Given the description of an element on the screen output the (x, y) to click on. 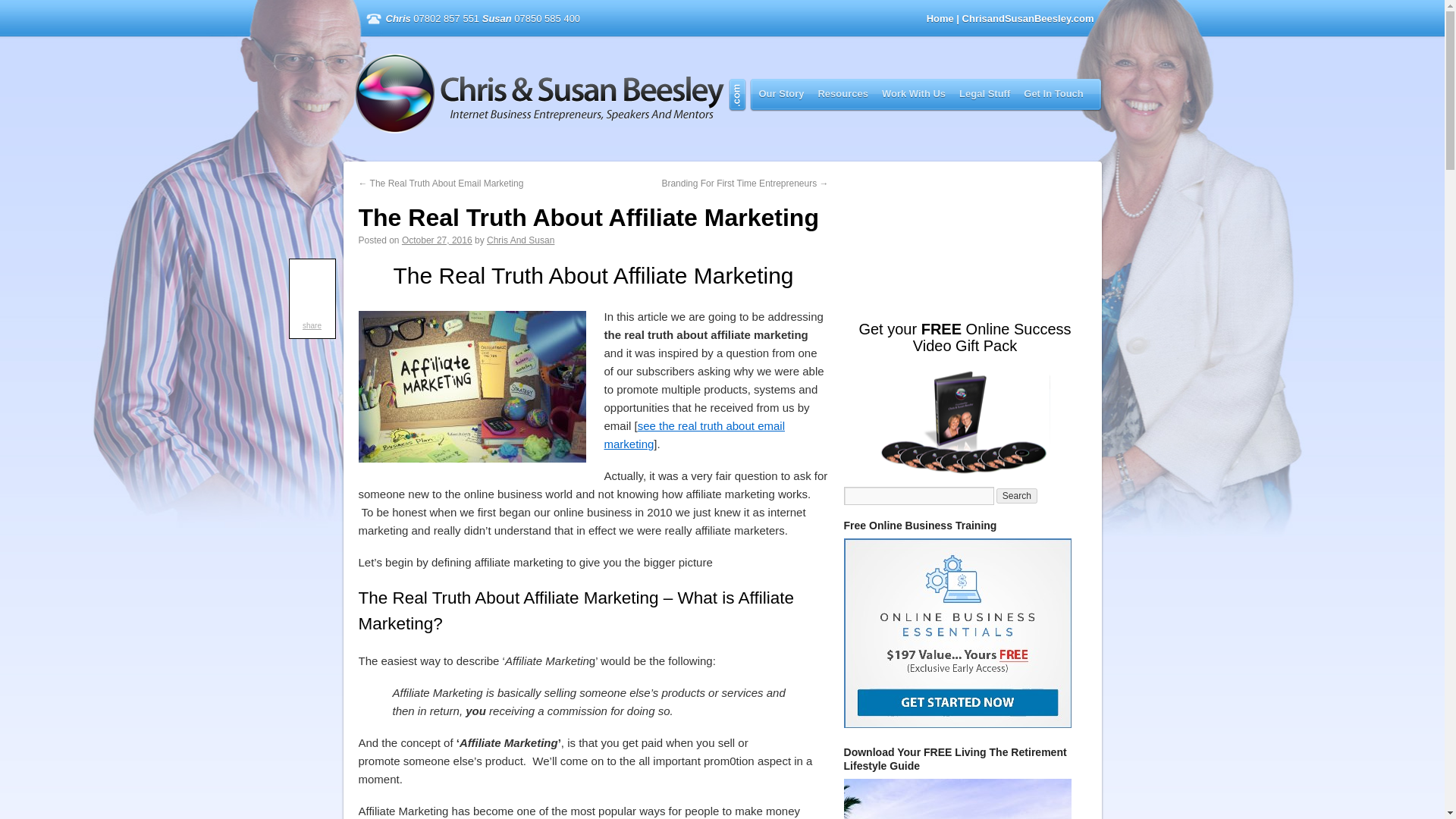
October 27, 2016 (436, 240)
Chris And Susan (520, 240)
View all posts by Chris And Susan (520, 240)
Legal Stuff (984, 93)
Home (939, 18)
share (311, 325)
3:51 pm (436, 240)
Search (1015, 495)
Resources (841, 93)
see the real truth about email marketing (694, 434)
Our Story (780, 93)
Work With Us (914, 93)
ChrisandSusanBeesley.com (550, 93)
Welcome to ChrisandSusanBeesley.com (550, 93)
Get In Touch (1053, 93)
